Given the description of an element on the screen output the (x, y) to click on. 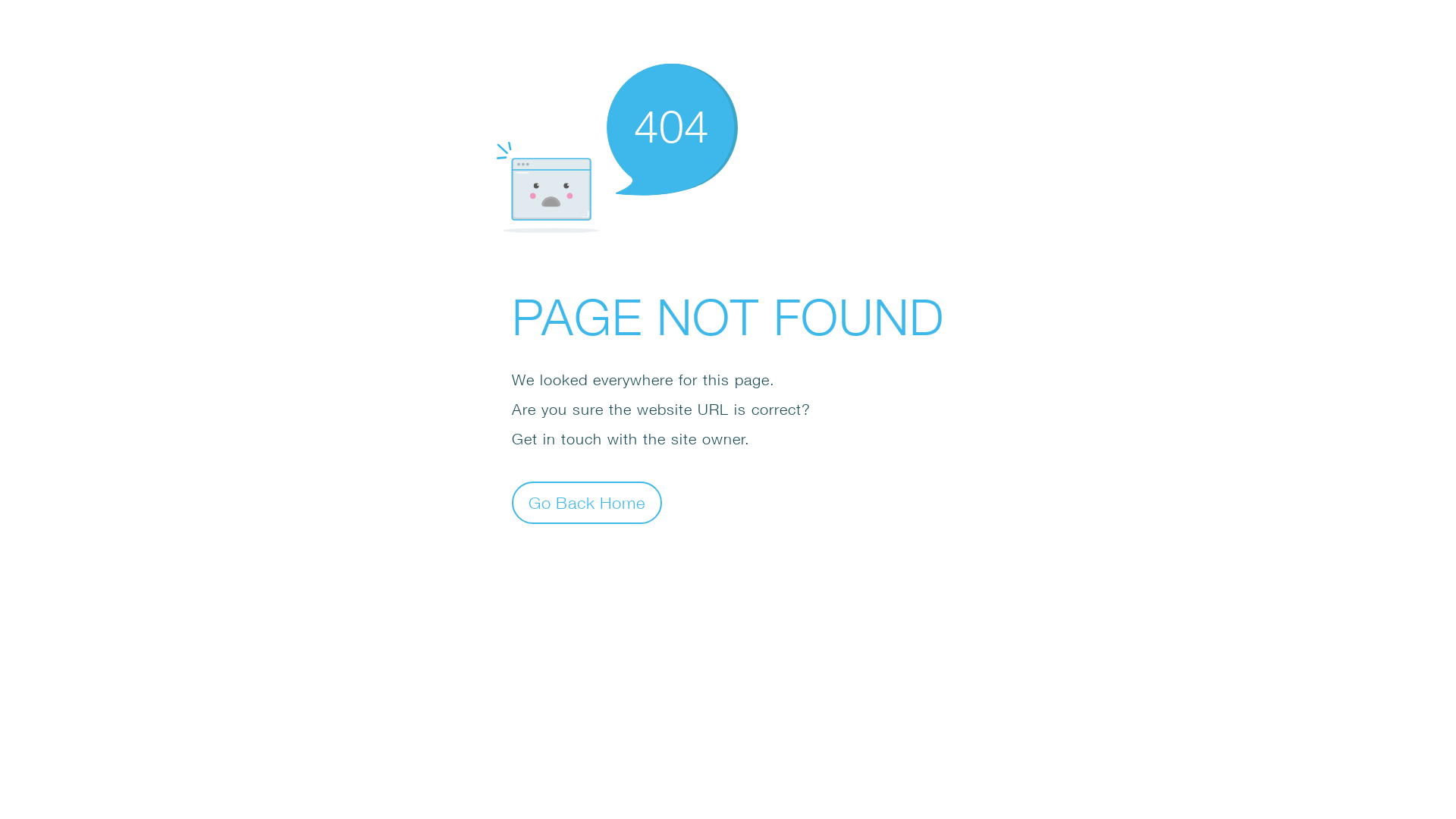
Go Back Home Element type: text (586, 502)
